Given the description of an element on the screen output the (x, y) to click on. 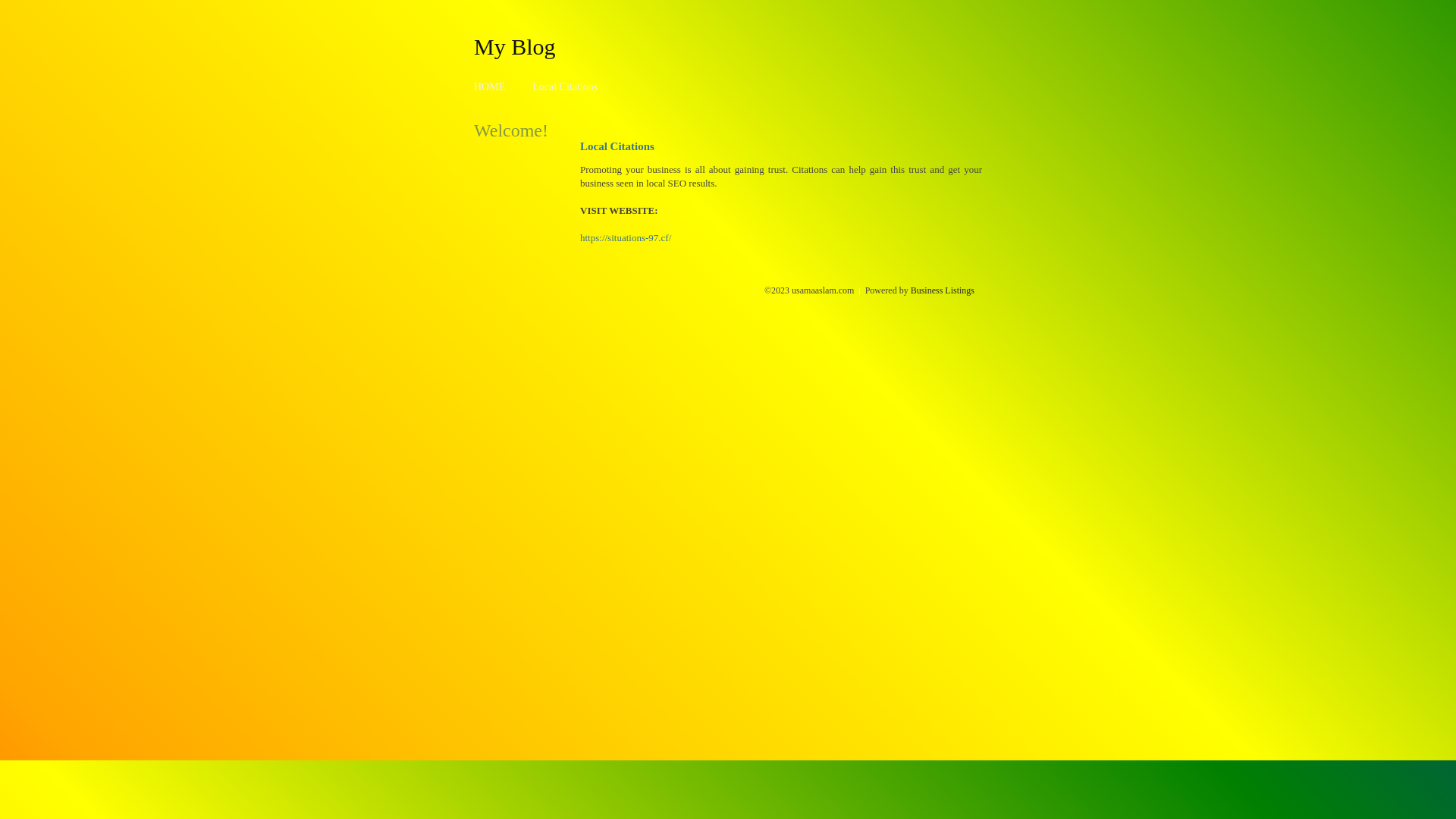
Business Listings Element type: text (942, 290)
HOME Element type: text (489, 86)
https://situations-97.cf/ Element type: text (625, 237)
My Blog Element type: text (514, 46)
Local Citations Element type: text (564, 86)
